Given the description of an element on the screen output the (x, y) to click on. 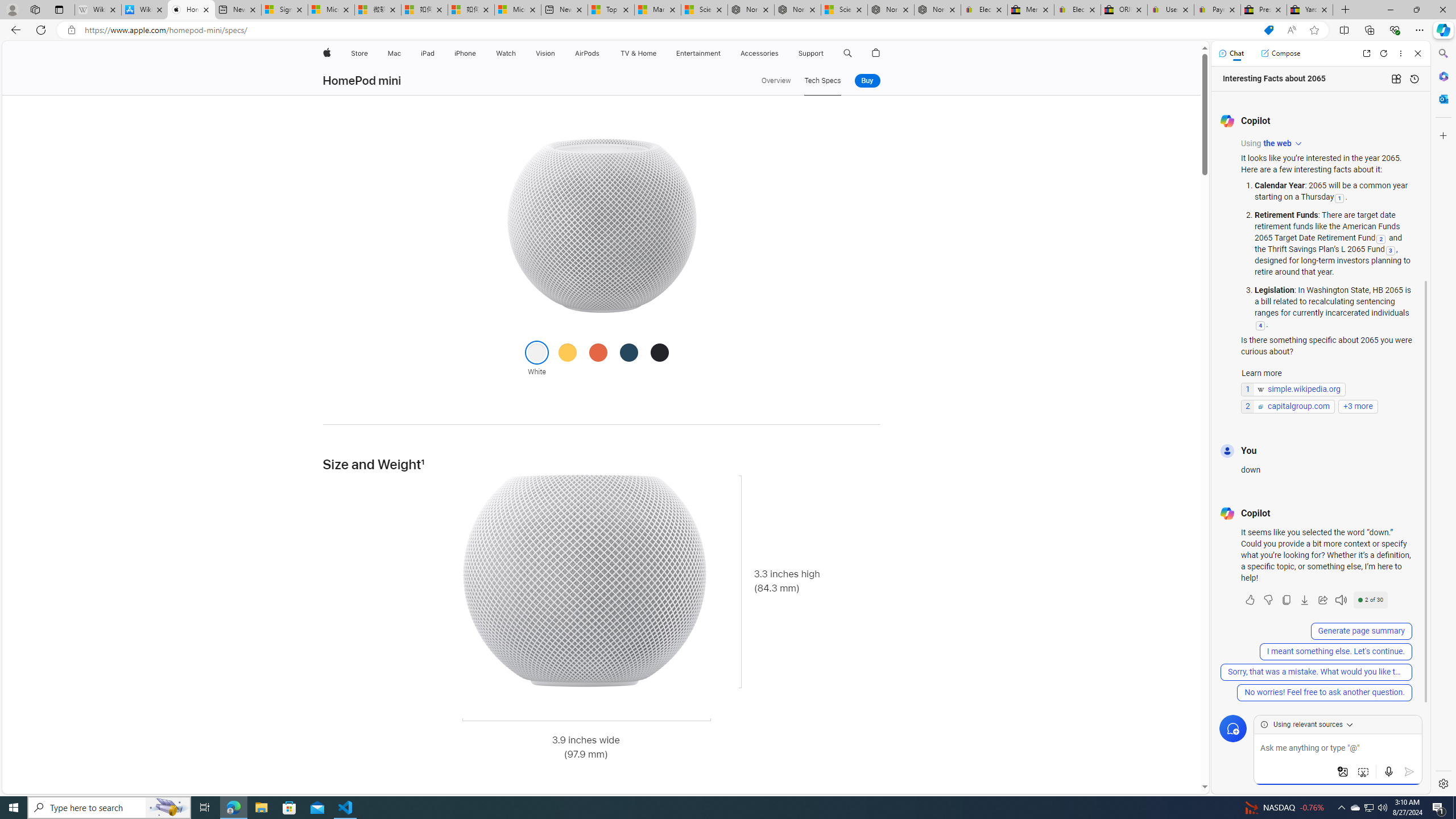
Midnight (659, 351)
AirPods menu (601, 53)
Store (359, 53)
HomePod mini (361, 80)
Accessories menu (780, 53)
Class: globalnav-submenu-trigger-item (825, 53)
Vision (545, 53)
Mac (394, 53)
Watch menu (518, 53)
White (536, 351)
Search apple.com (847, 53)
